Given the description of an element on the screen output the (x, y) to click on. 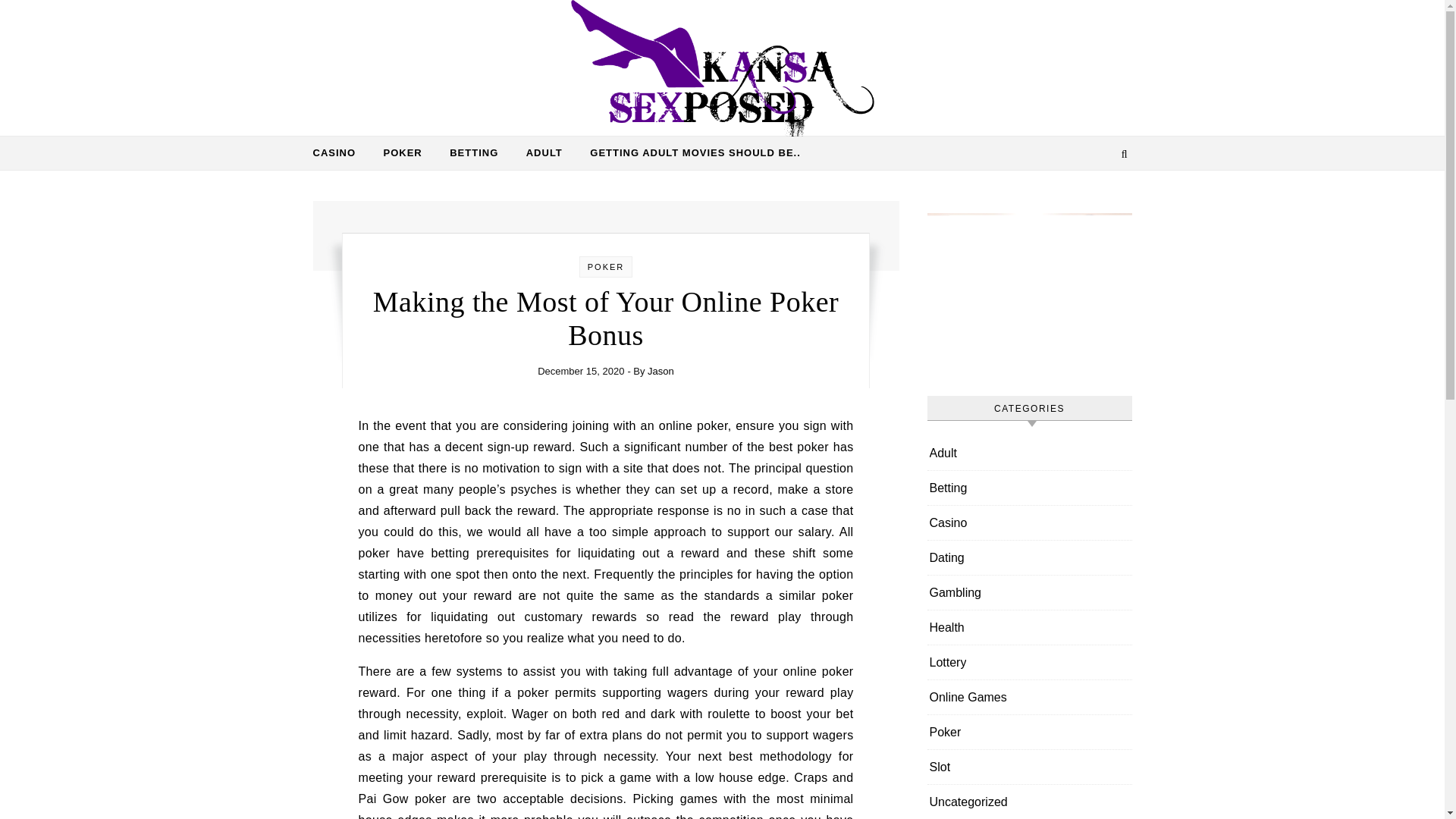
GETTING ADULT MOVIES SHOULD BE.. (689, 152)
Online Games (968, 697)
Casino (949, 522)
Lottery (948, 662)
Posts by Jason (660, 370)
BETTING (474, 152)
POKER (402, 152)
Poker (945, 731)
Jason (660, 370)
Gambling (955, 592)
POKER (606, 266)
ADULT (544, 152)
Betting (949, 487)
CASINO (340, 152)
Dating (946, 557)
